Given the description of an element on the screen output the (x, y) to click on. 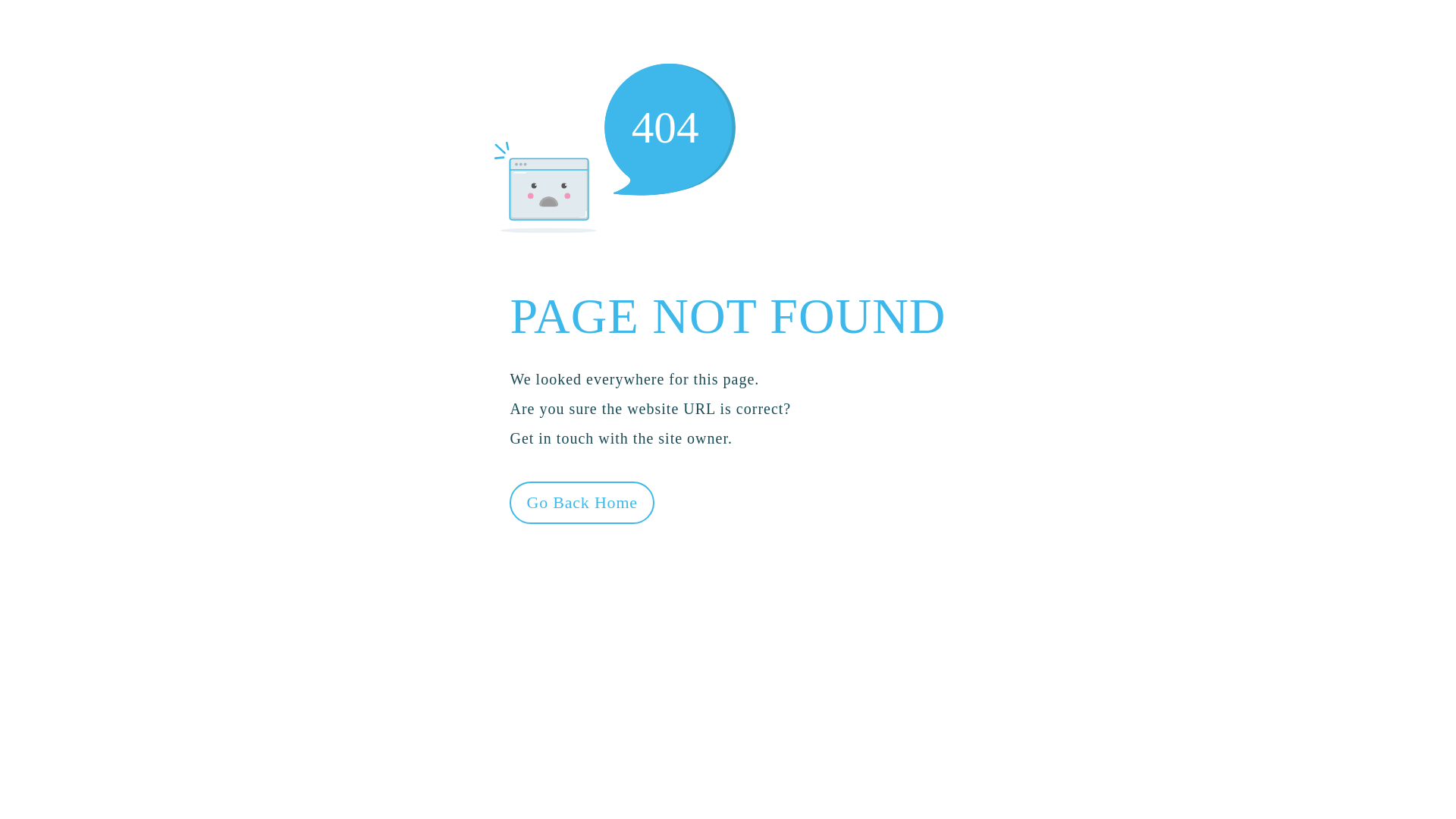
Go Back Home Element type: text (581, 502)
